Given the description of an element on the screen output the (x, y) to click on. 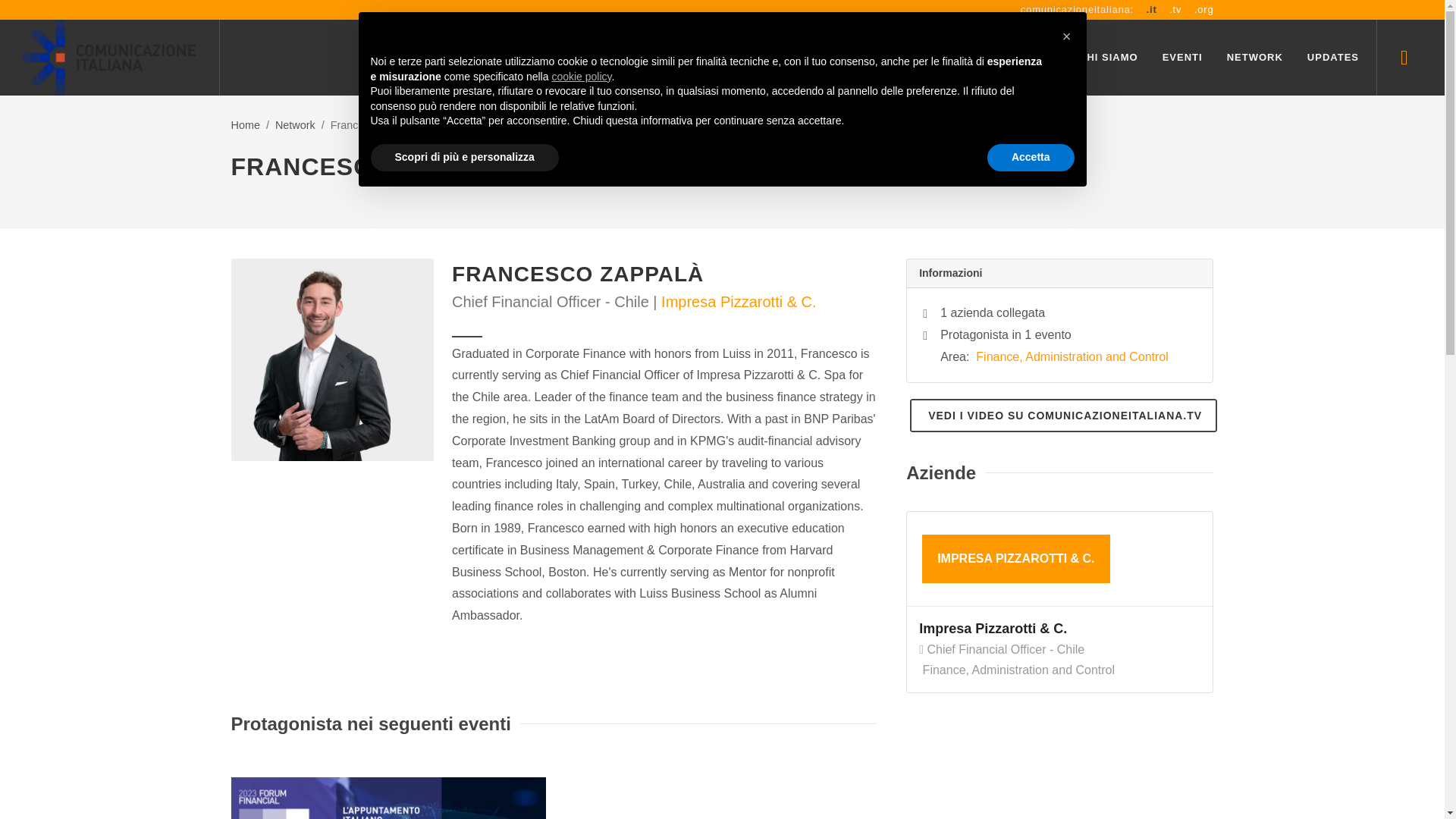
CHI SIAMO (1108, 57)
NETWORK (1254, 57)
VEDI I VIDEO SU COMUNICAZIONEITALIANA.TV (1063, 415)
Network (295, 124)
.tv (1174, 9)
Home (244, 124)
UPDATES (1332, 57)
.org (1203, 9)
Finance, Administration and Control (1071, 357)
